Given the description of an element on the screen output the (x, y) to click on. 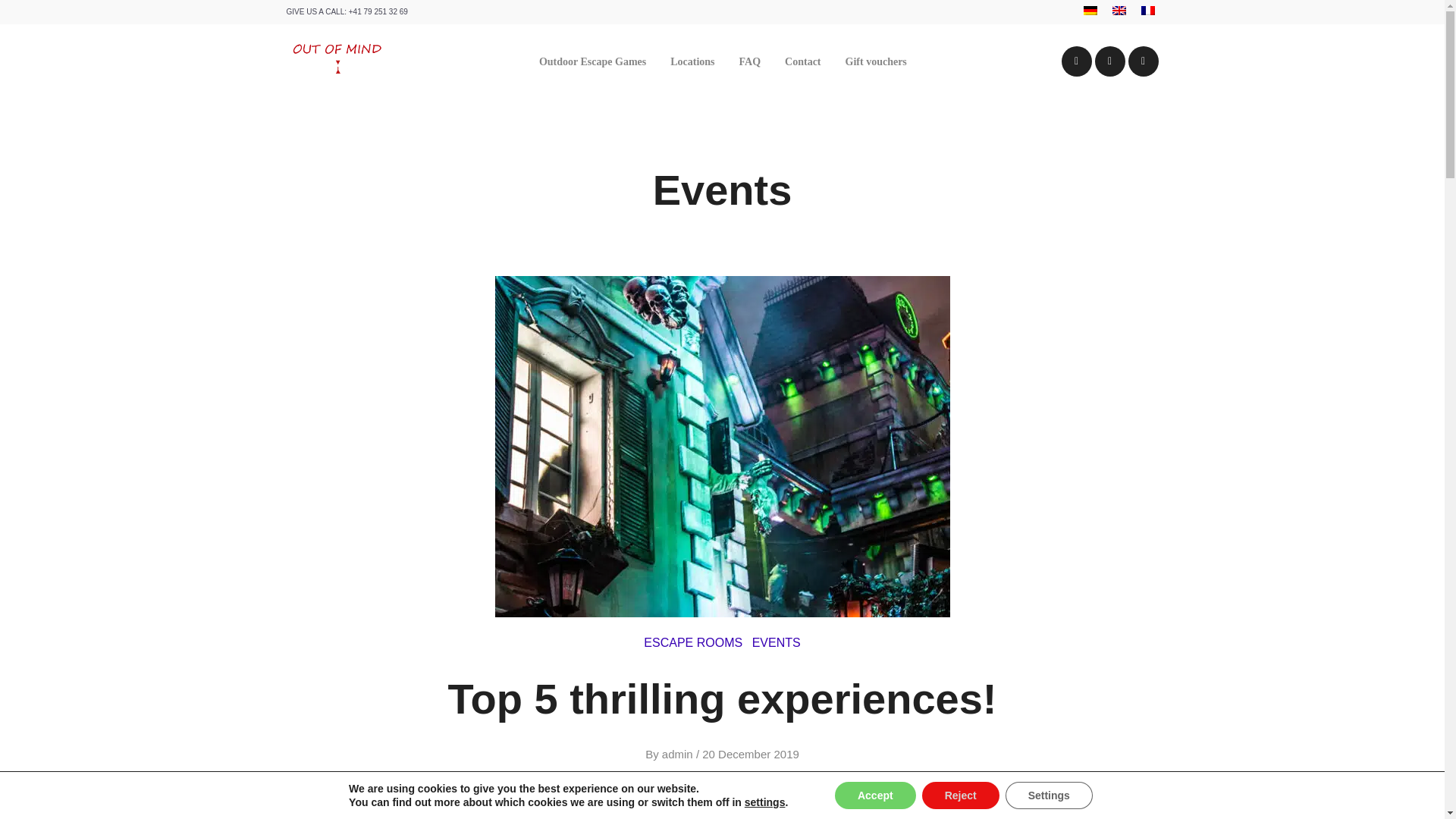
instagram (1143, 60)
EVENTS (776, 642)
Top 5 thrilling experiences! (720, 698)
Outdoor Escape Games (592, 62)
Gift vouchers (875, 62)
Deutsch (1089, 10)
20 December 2019 (750, 753)
admin (677, 753)
FAQ (749, 62)
facebook (1076, 60)
